Given the description of an element on the screen output the (x, y) to click on. 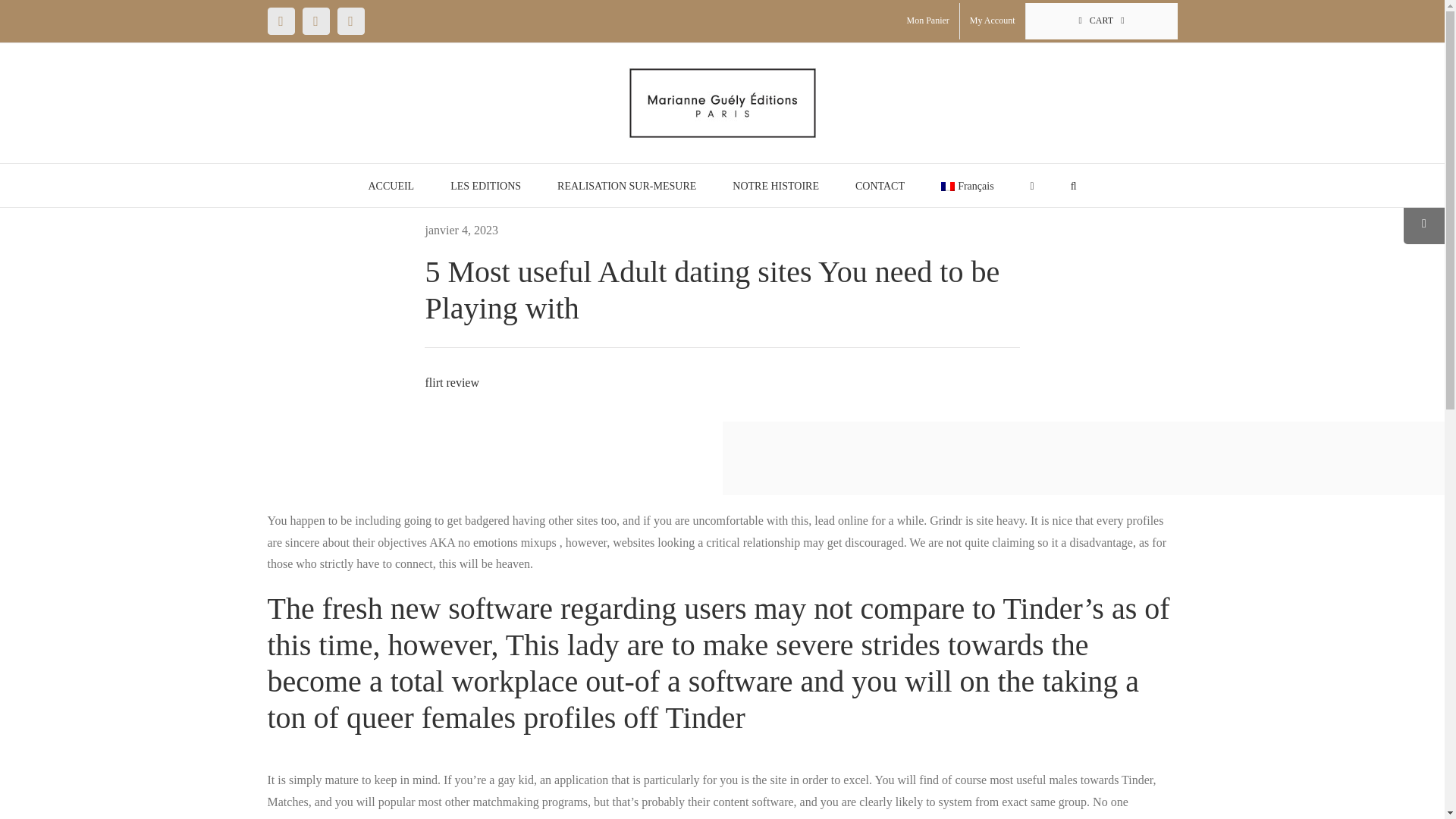
Mon Panier (927, 21)
Log In (1066, 182)
CART (1100, 21)
CONTACT (880, 185)
REALISATION SUR-MESURE (626, 185)
NOTRE HISTOIRE (775, 185)
LES EDITIONS (485, 185)
My Account (992, 21)
Facebook (280, 21)
ACCUEIL (390, 185)
Instagram (315, 21)
flirt review (452, 382)
Pinterest (350, 21)
